Given the description of an element on the screen output the (x, y) to click on. 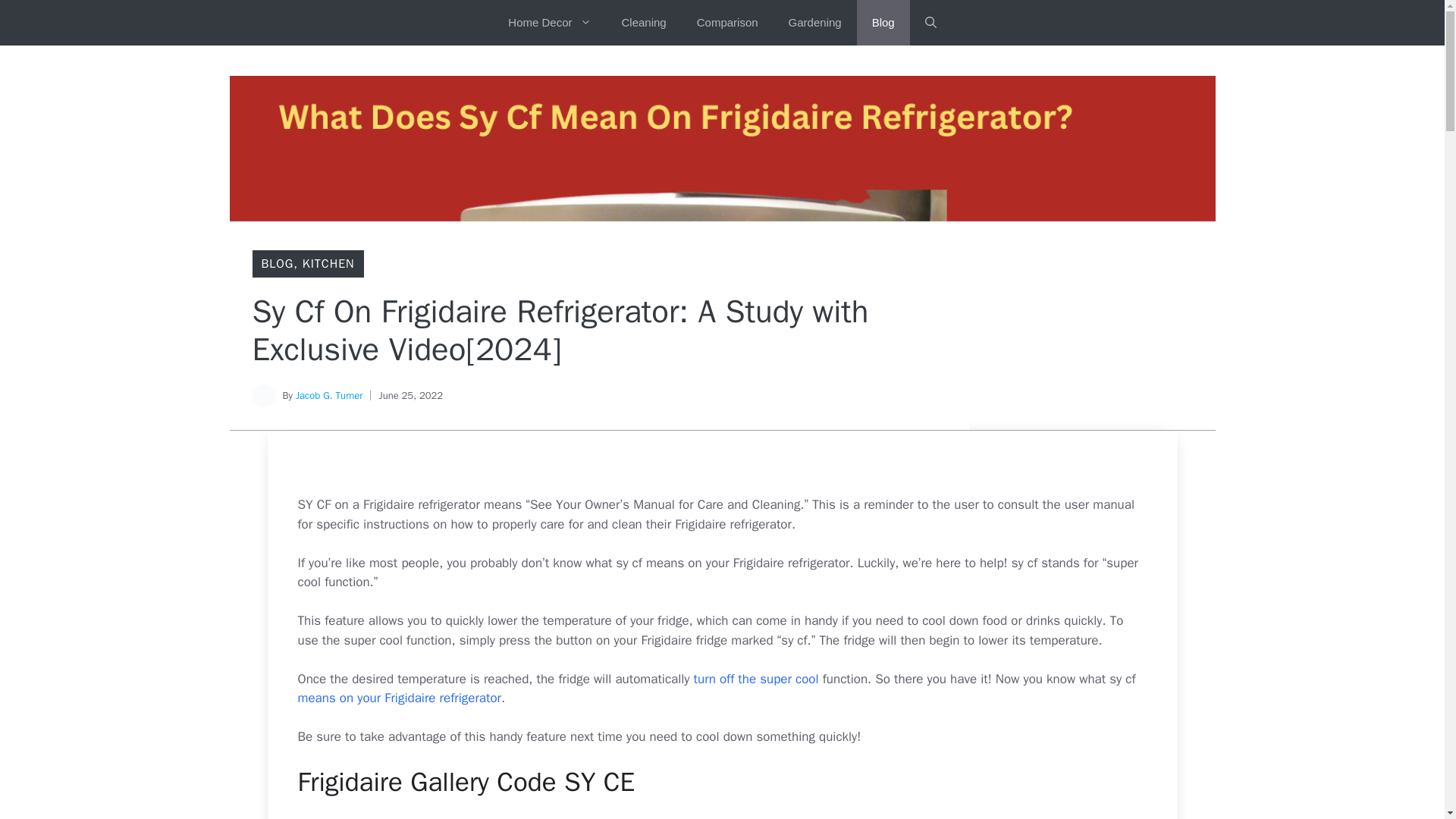
Cleaning (644, 22)
Home Decor (549, 22)
KITCHEN (328, 263)
means on your Frigidaire refrigerator (398, 697)
Comparison (727, 22)
Gardening (815, 22)
BLOG (277, 263)
Blog (883, 22)
Jacob G. Turner (328, 395)
